Given the description of an element on the screen output the (x, y) to click on. 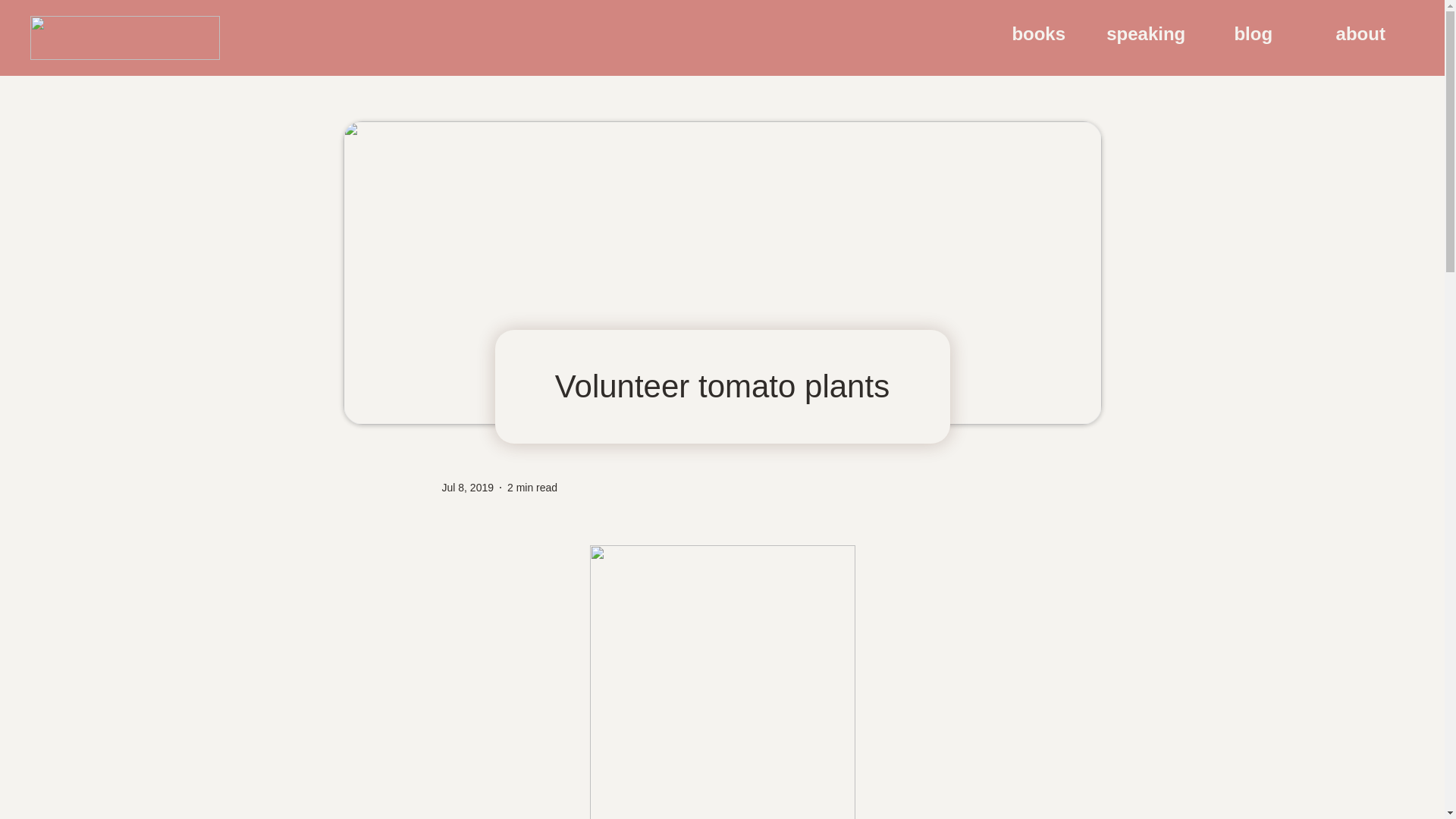
Jul 8, 2019 (467, 486)
blog (1252, 34)
speaking (1145, 34)
2 min read (531, 486)
about (1361, 34)
books (1038, 34)
